Given the description of an element on the screen output the (x, y) to click on. 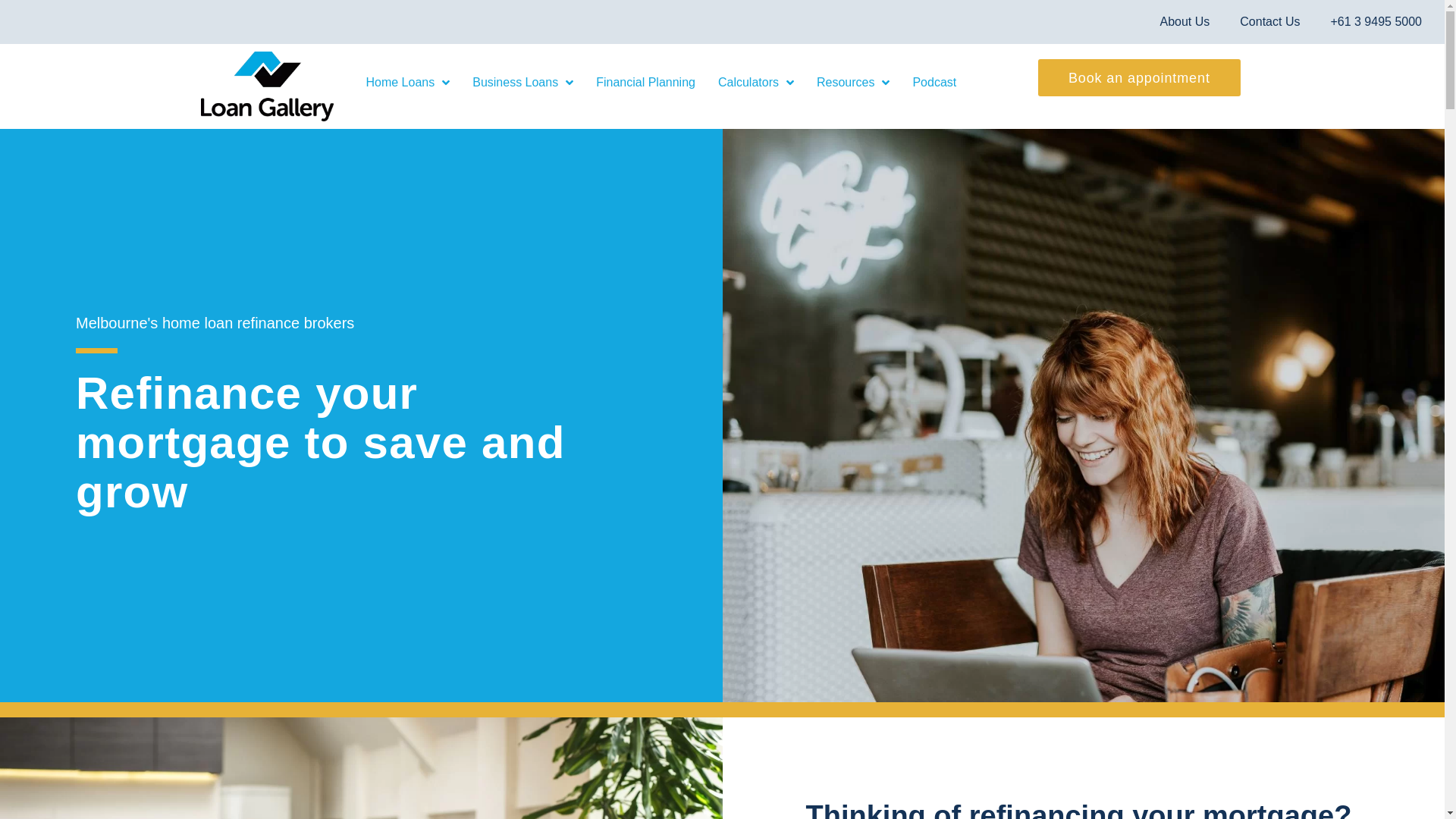
Financial Planning Element type: text (645, 82)
Resources Element type: text (852, 82)
Contact Us Element type: text (1269, 21)
Calculators Element type: text (755, 82)
Podcast Element type: text (934, 82)
Business Loans Element type: text (522, 82)
+61 3 9495 5000 Element type: text (1375, 21)
Home Loans Element type: text (407, 82)
About Us Element type: text (1184, 21)
Book an appointment Element type: text (1139, 77)
